Given the description of an element on the screen output the (x, y) to click on. 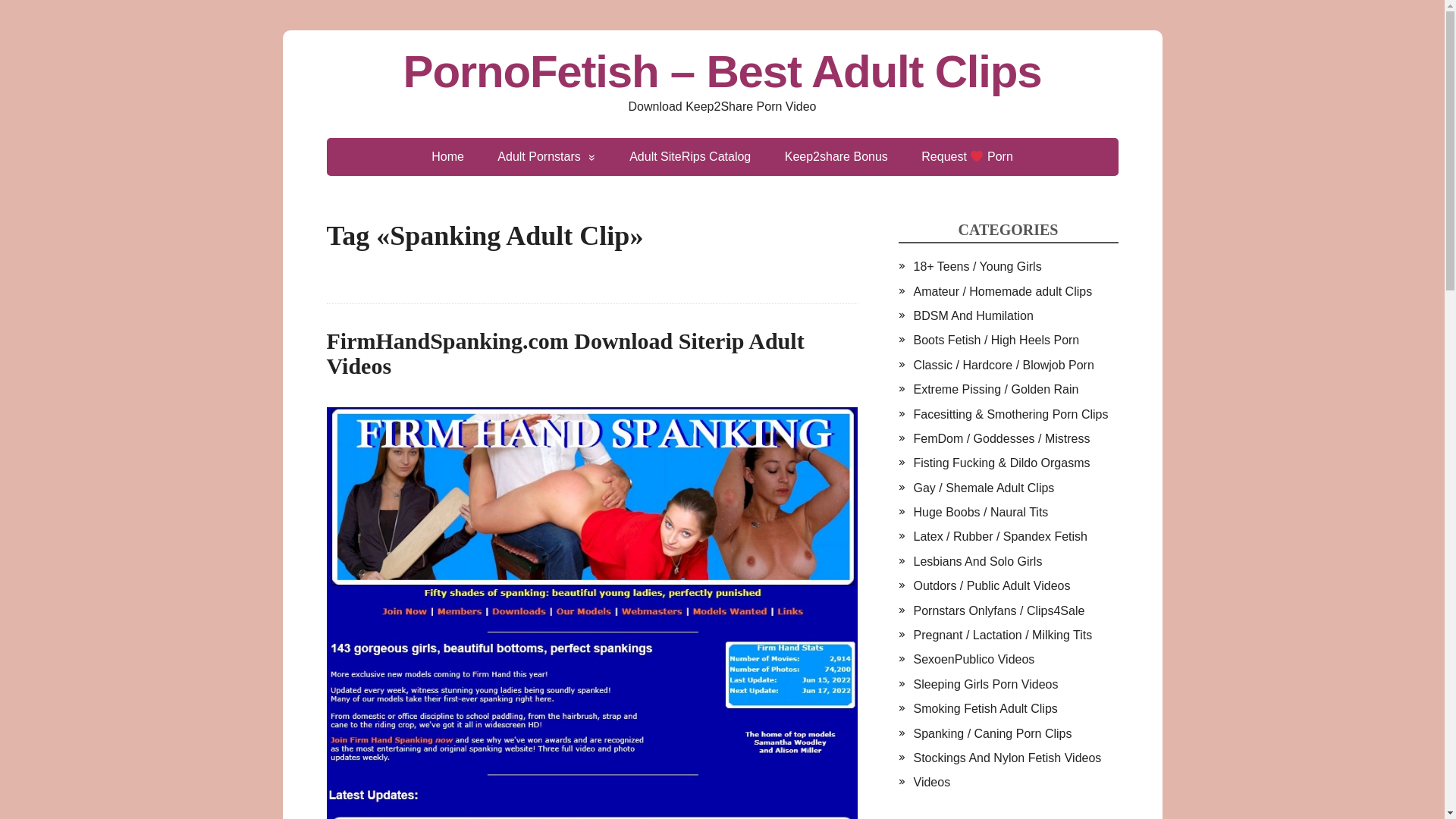
SexoenPublico Videos (972, 658)
Adult SiteRips Catalog (689, 157)
FirmHandSpanking.com Download Siterip Adult Videos (564, 353)
Extreme Hard Fisting Adult Video Siterips (1000, 462)
Request Porn (966, 157)
Home (447, 157)
FirmHandSpanking.com Download Siterip Adult Videos (564, 353)
Adult Pornstars (545, 157)
BDSM And Humilation (972, 315)
Lesbians And Solo Girls (977, 561)
Keep2share Bonus (836, 157)
Amateur Hardcore Porn Clips With Sexy Girls (1002, 291)
